Given the description of an element on the screen output the (x, y) to click on. 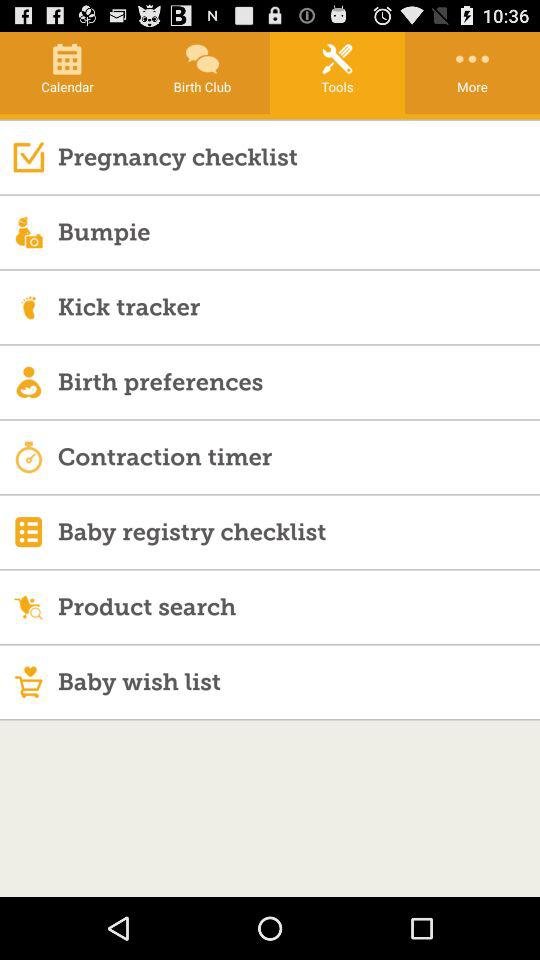
press birth preferences item (298, 381)
